Given the description of an element on the screen output the (x, y) to click on. 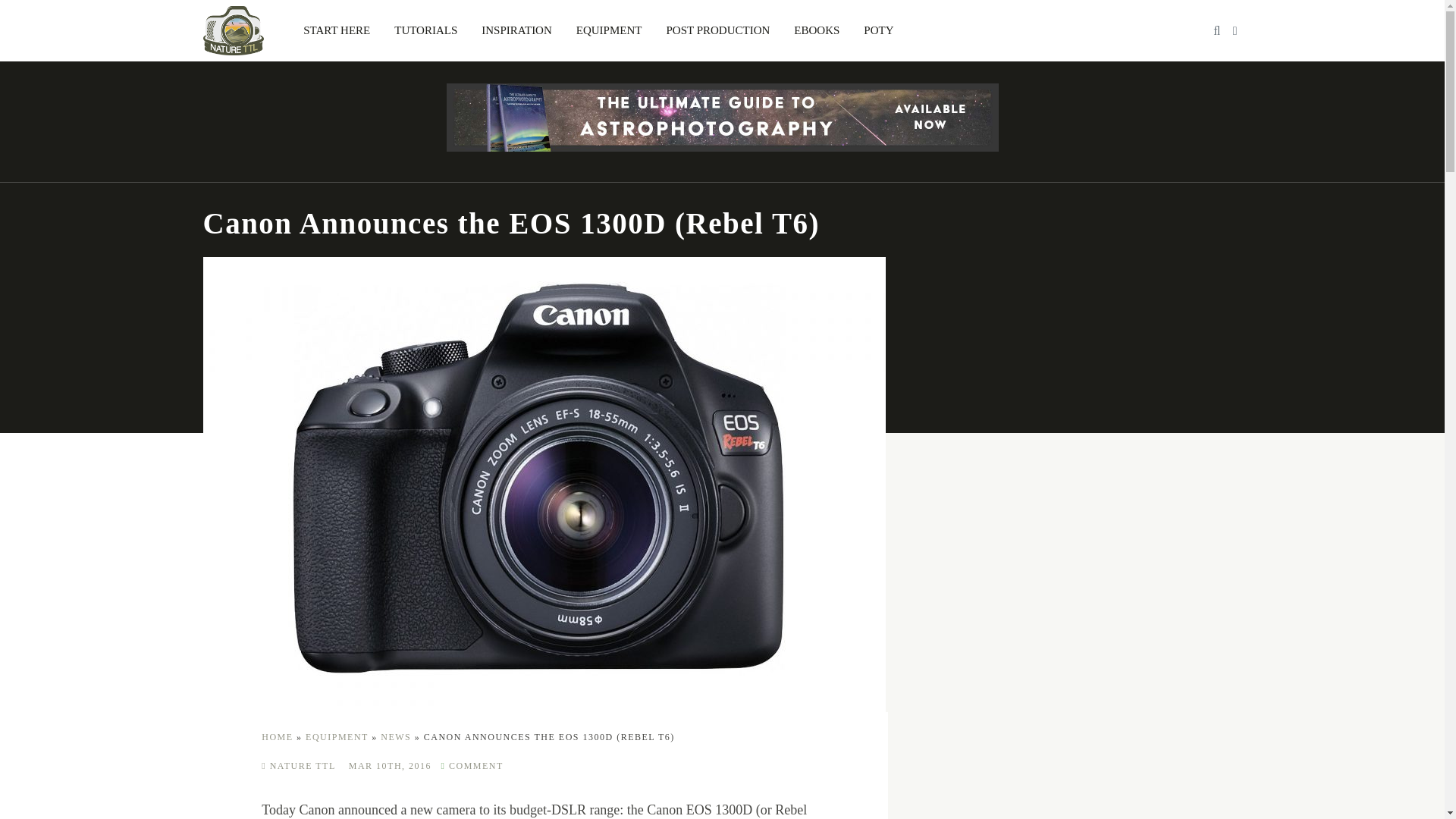
TUTORIALS (424, 30)
START HERE (336, 30)
